Given the description of an element on the screen output the (x, y) to click on. 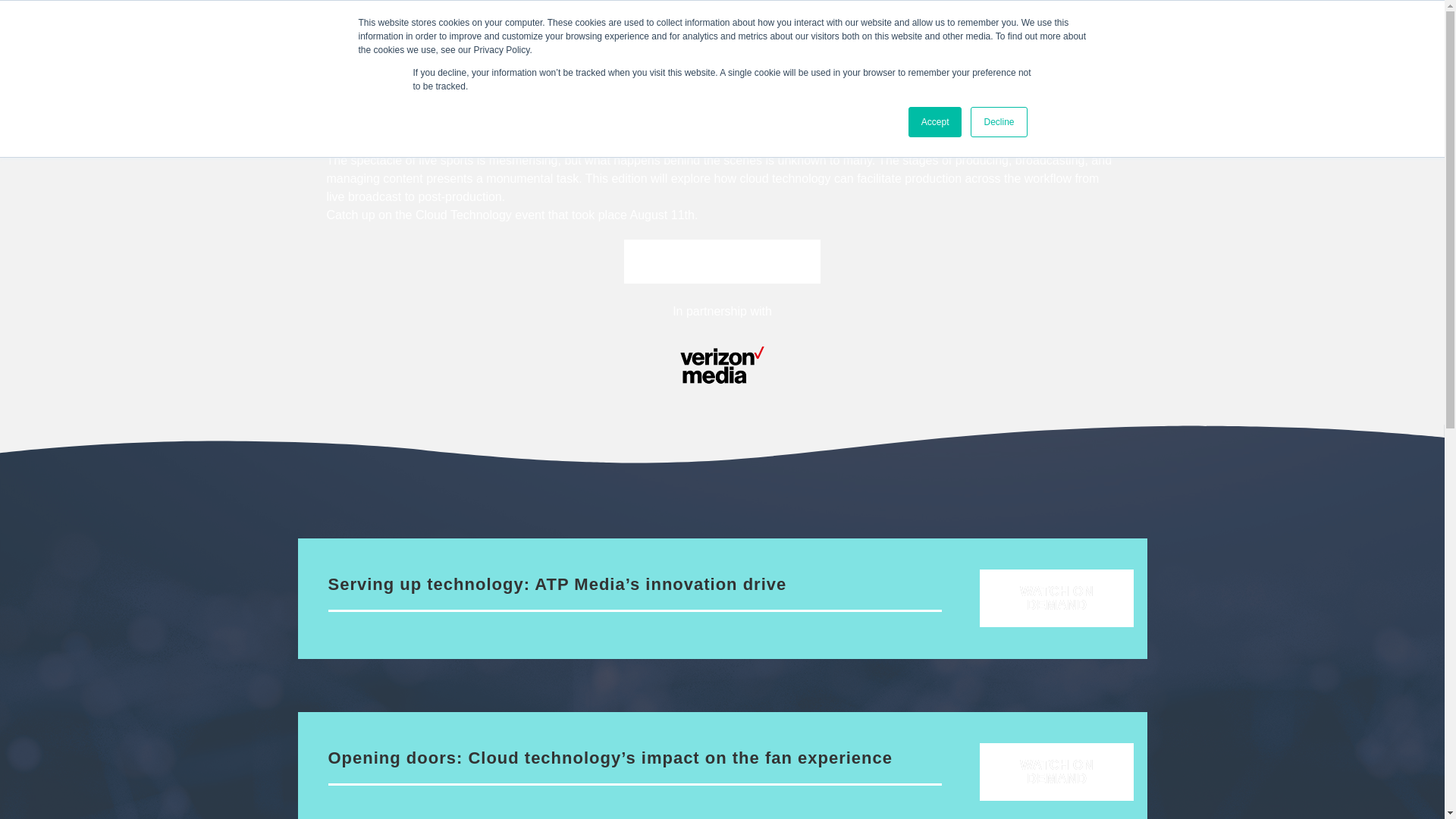
BOOK YOUR PASS (1283, 33)
Accept (935, 122)
Partnerships (712, 32)
2024 Content (230, 32)
Decline (998, 122)
2024 OTT Awards (587, 32)
More (807, 32)
Who Attends? (460, 32)
